Given the description of an element on the screen output the (x, y) to click on. 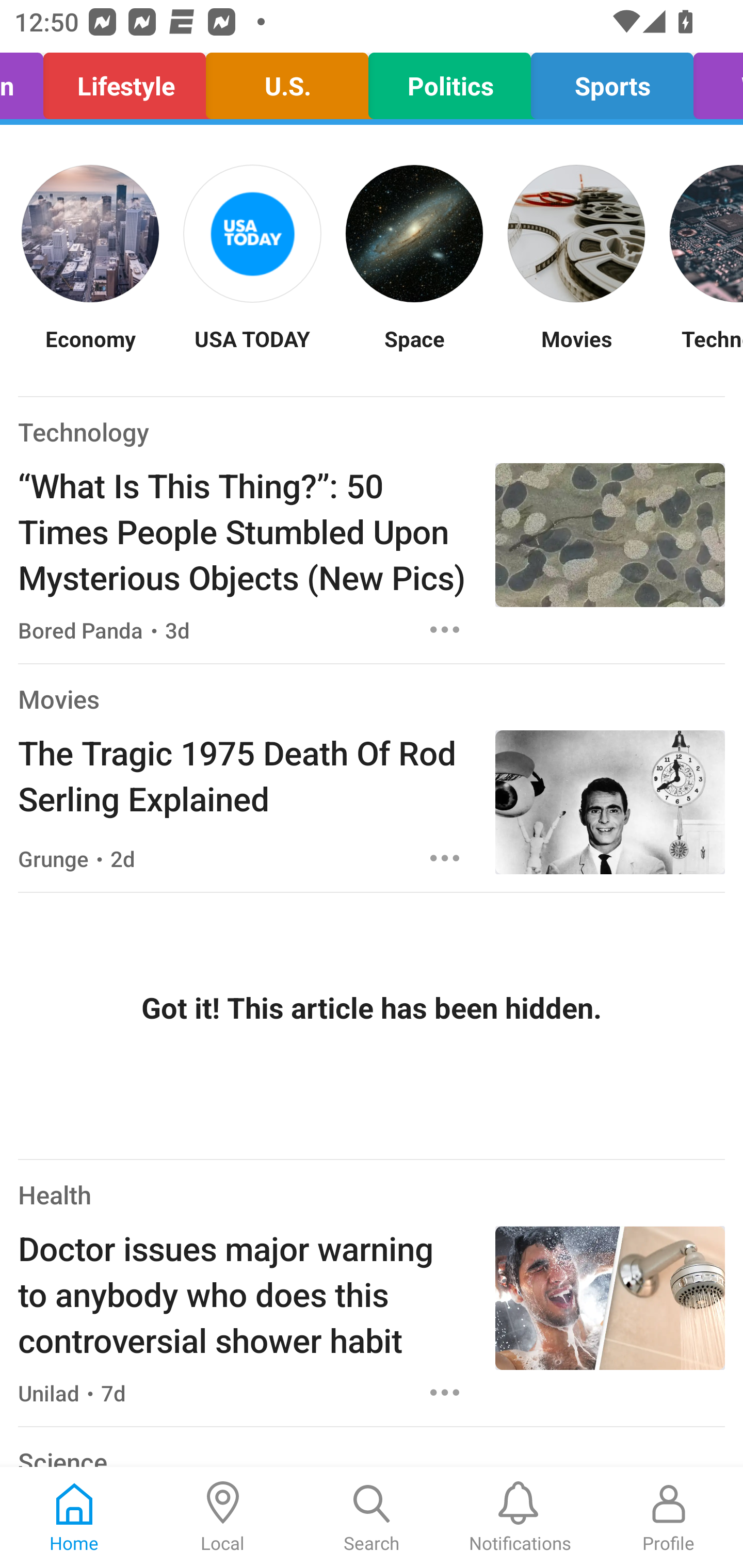
Lifestyle (124, 81)
U.S. (286, 81)
Politics (449, 81)
Sports (612, 81)
Economy (89, 350)
USA TODAY (251, 350)
Space (413, 350)
Movies (575, 350)
Technology (83, 430)
Options (444, 629)
Movies (58, 699)
Options (444, 858)
Health (54, 1194)
Options (444, 1392)
Local (222, 1517)
Search (371, 1517)
Notifications (519, 1517)
Profile (668, 1517)
